Given the description of an element on the screen output the (x, y) to click on. 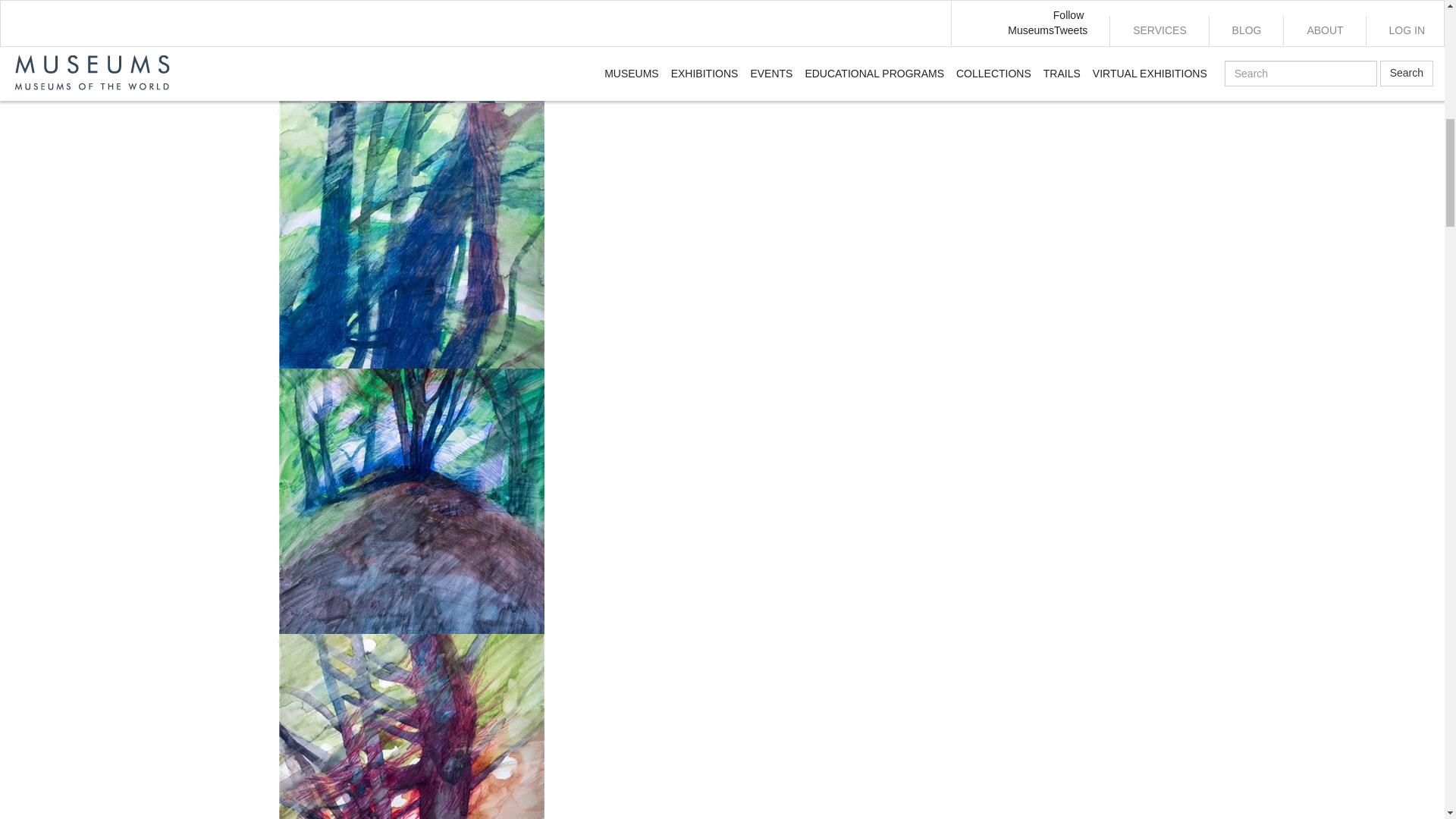
V POHOR. GOZDU 20. AVG (722, 62)
